Given the description of an element on the screen output the (x, y) to click on. 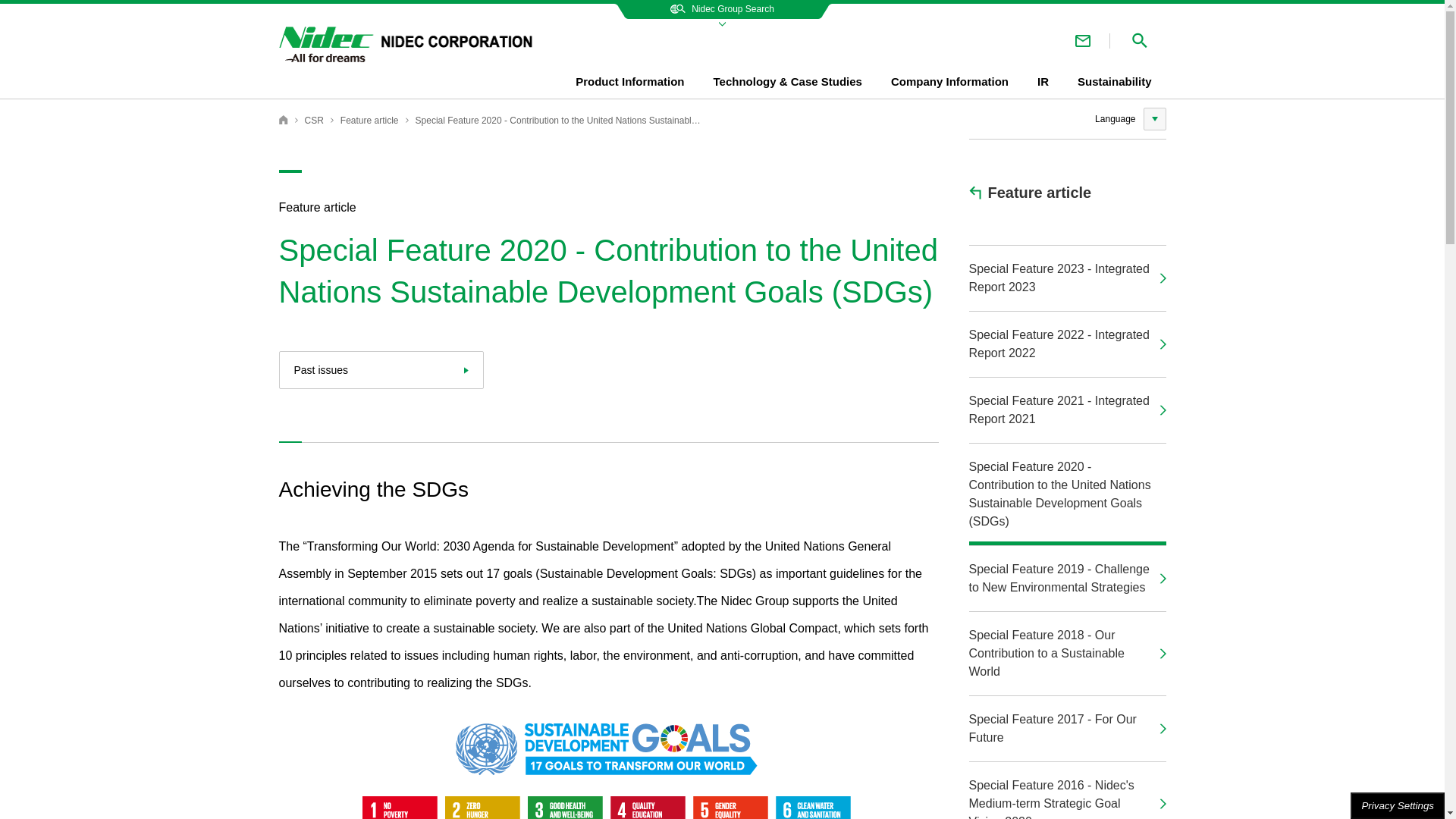
Product Information (629, 82)
Contact Us (1083, 40)
CSR (313, 120)
Contact Us (1083, 40)
Feature article (369, 120)
Nidec Corporation (283, 119)
Company Information (949, 82)
Search inside Nidec Corporation's website. (1139, 40)
